Given the description of an element on the screen output the (x, y) to click on. 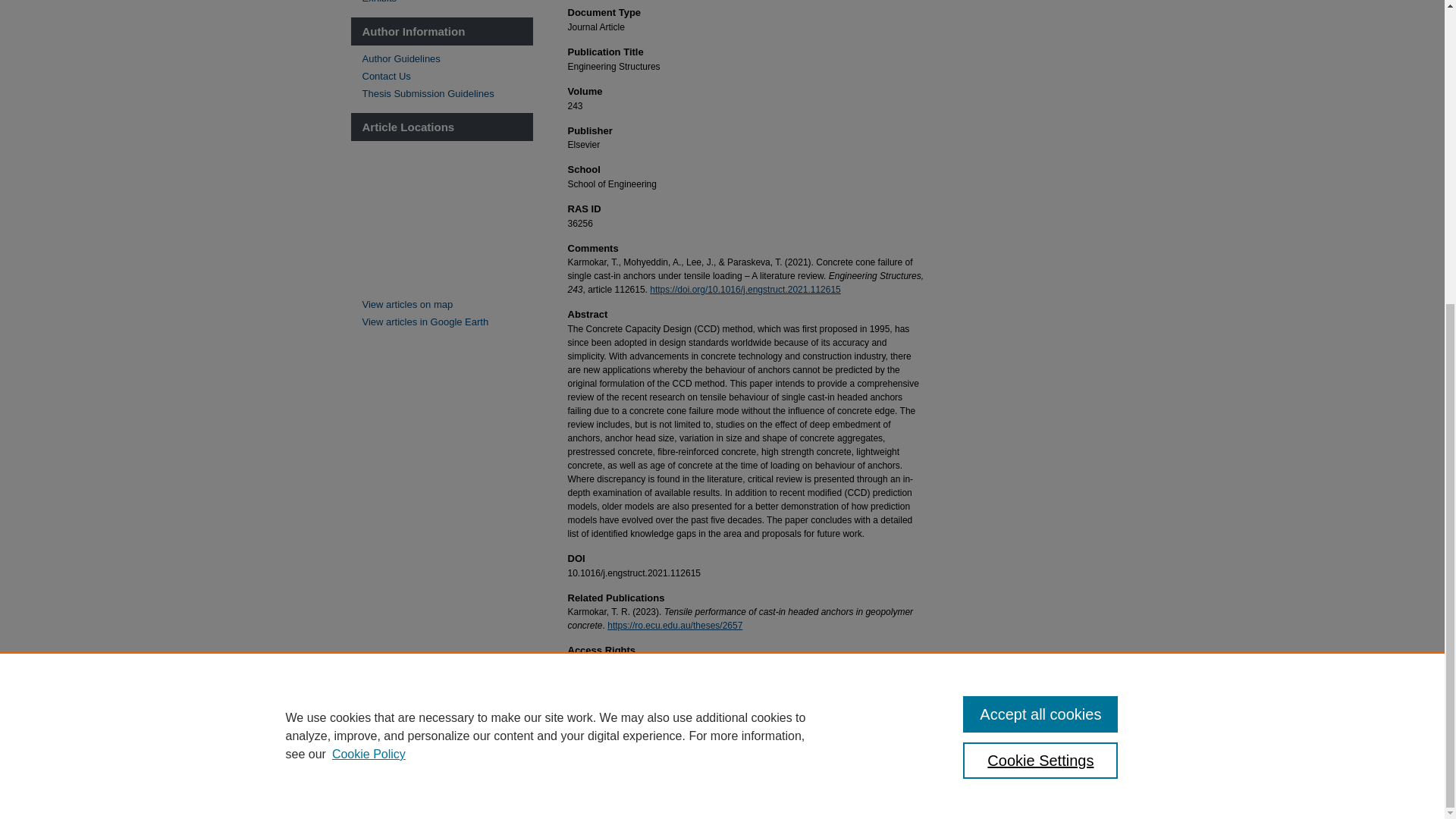
link to publication (745, 289)
